Given the description of an element on the screen output the (x, y) to click on. 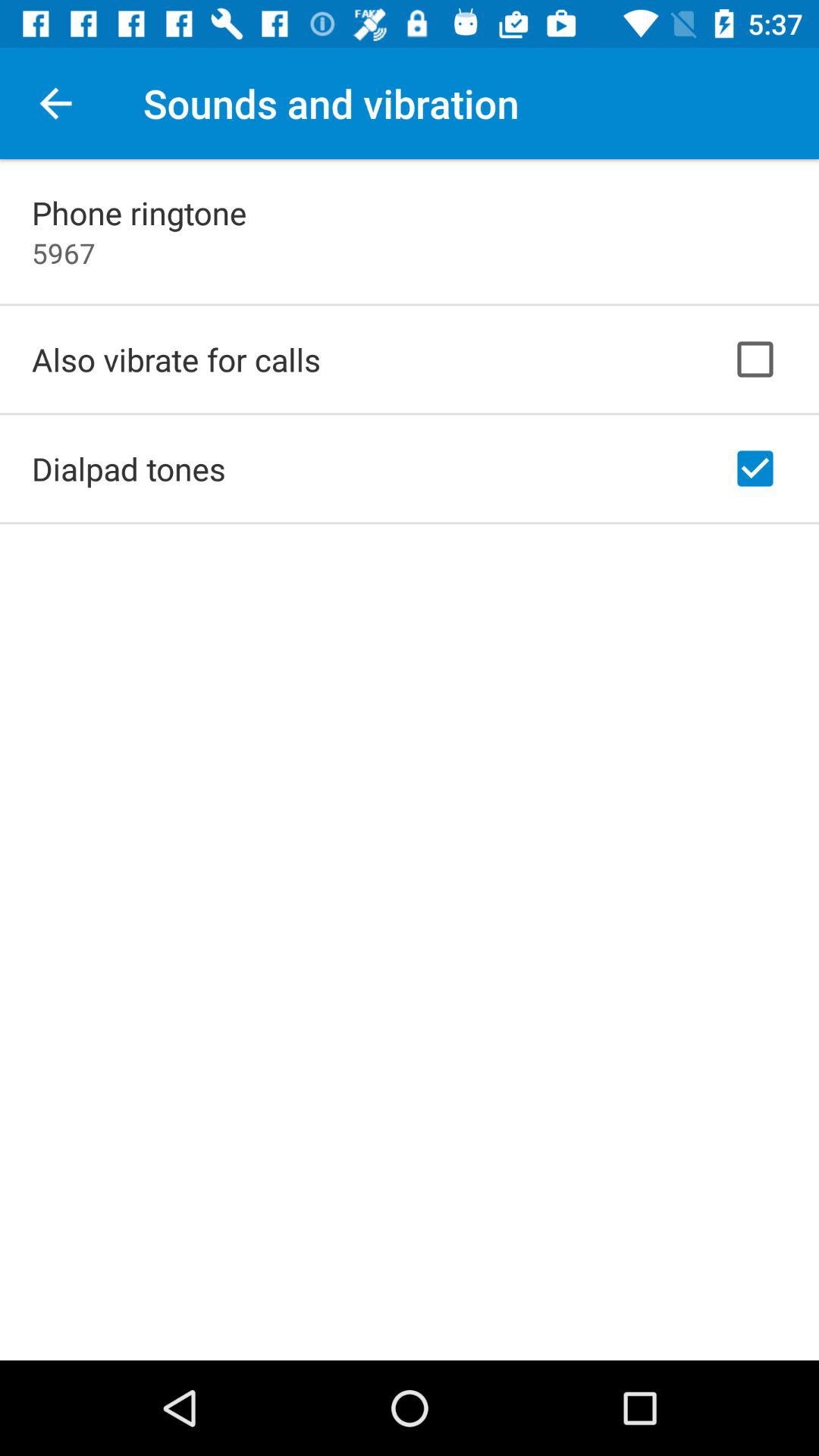
flip until 5967 app (63, 252)
